Given the description of an element on the screen output the (x, y) to click on. 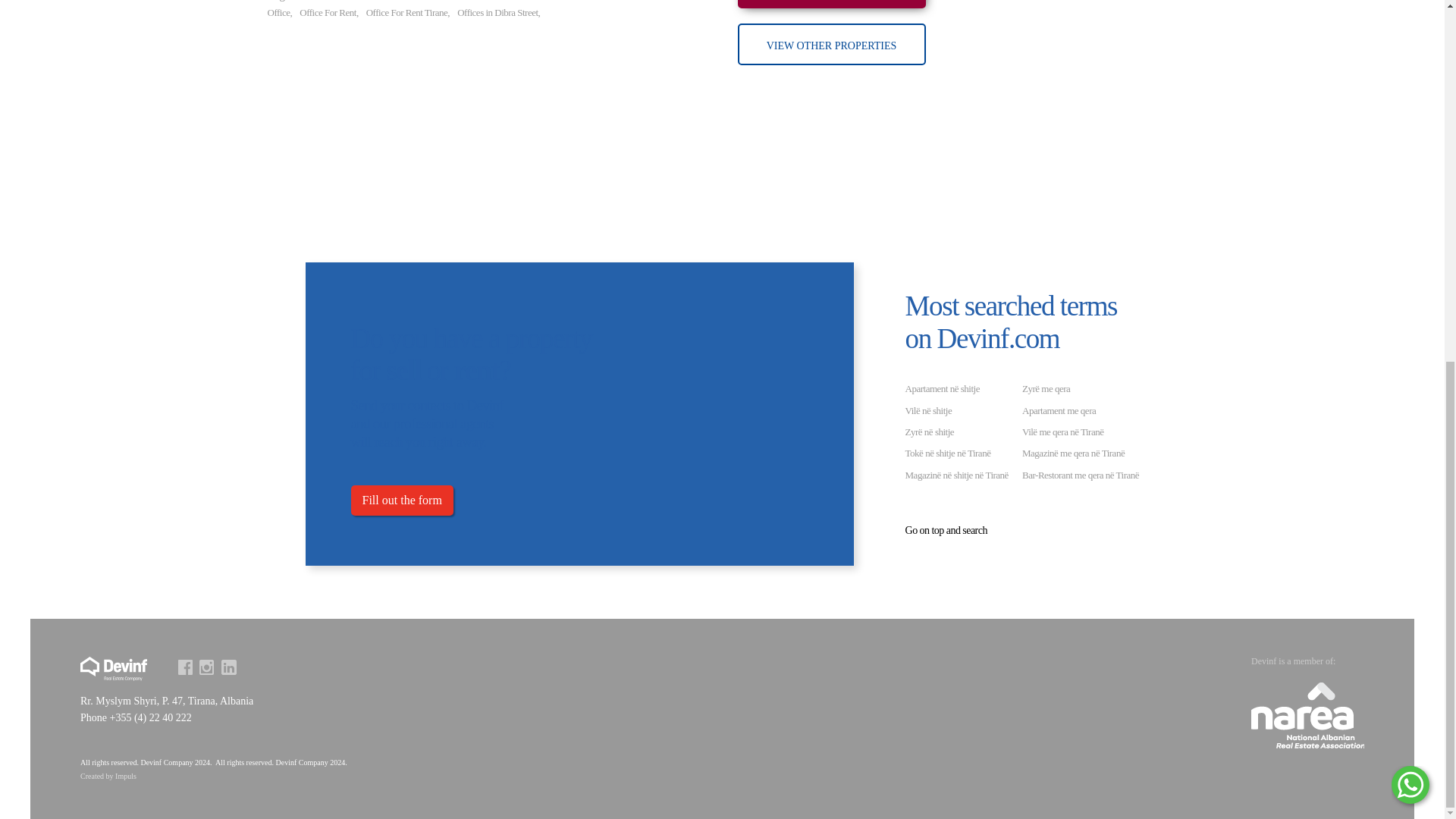
Offices in Dibra Street, (498, 9)
Office For Rent Tirane, (407, 9)
SOLD (830, 4)
Office, (279, 9)
Fill out the form (401, 500)
VIEW OTHER PROPERTIES (830, 44)
Apartament me qera (1059, 410)
Go on top and search (946, 530)
Office For Rent, (328, 9)
